Given the description of an element on the screen output the (x, y) to click on. 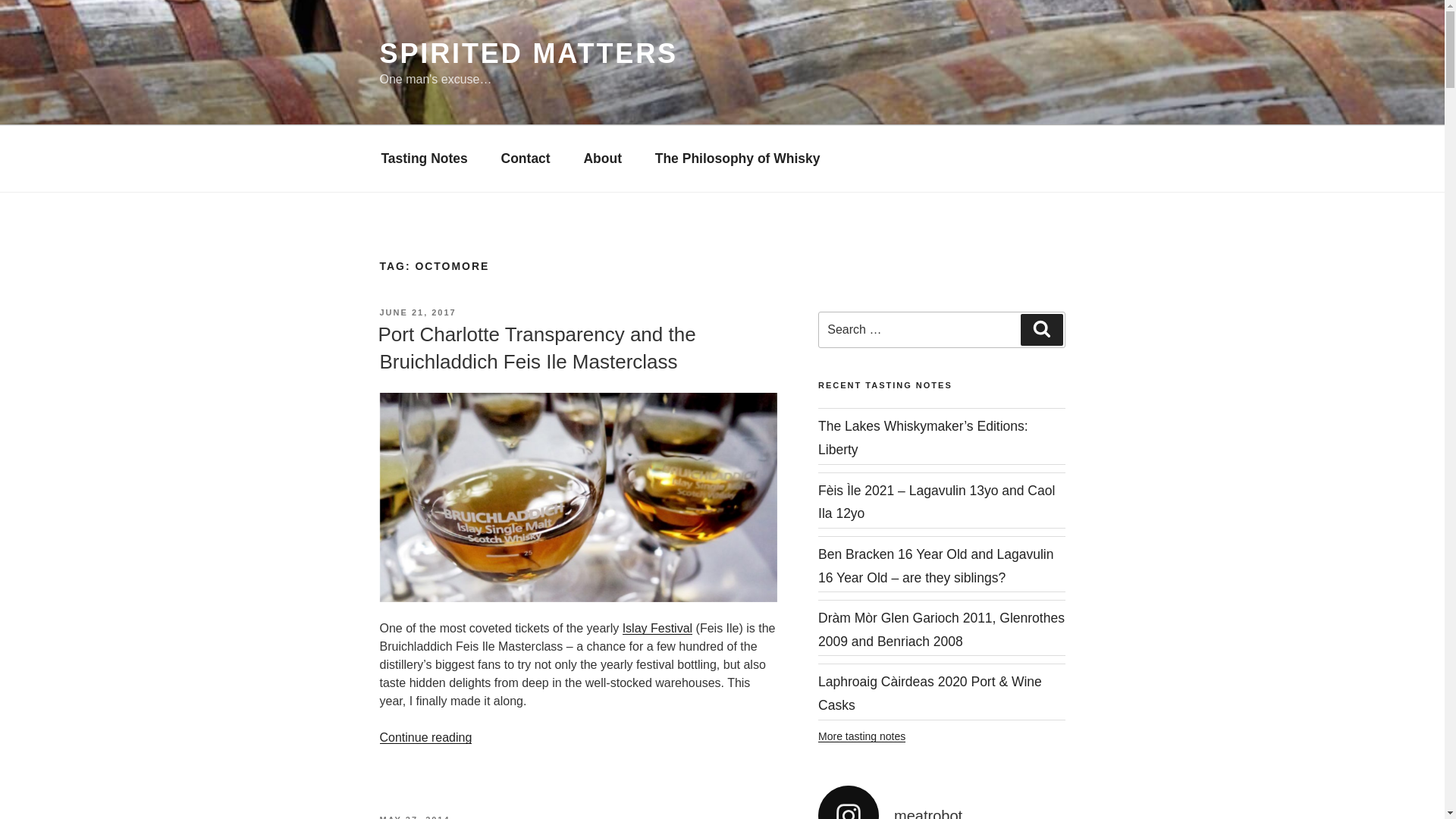
Contact (525, 158)
Islay Festival (658, 627)
About (603, 158)
JUNE 21, 2017 (416, 311)
SPIRITED MATTERS (527, 52)
Tasting Notes (423, 158)
MAY 27, 2014 (413, 816)
The Philosophy of Whisky (738, 158)
